Given the description of an element on the screen output the (x, y) to click on. 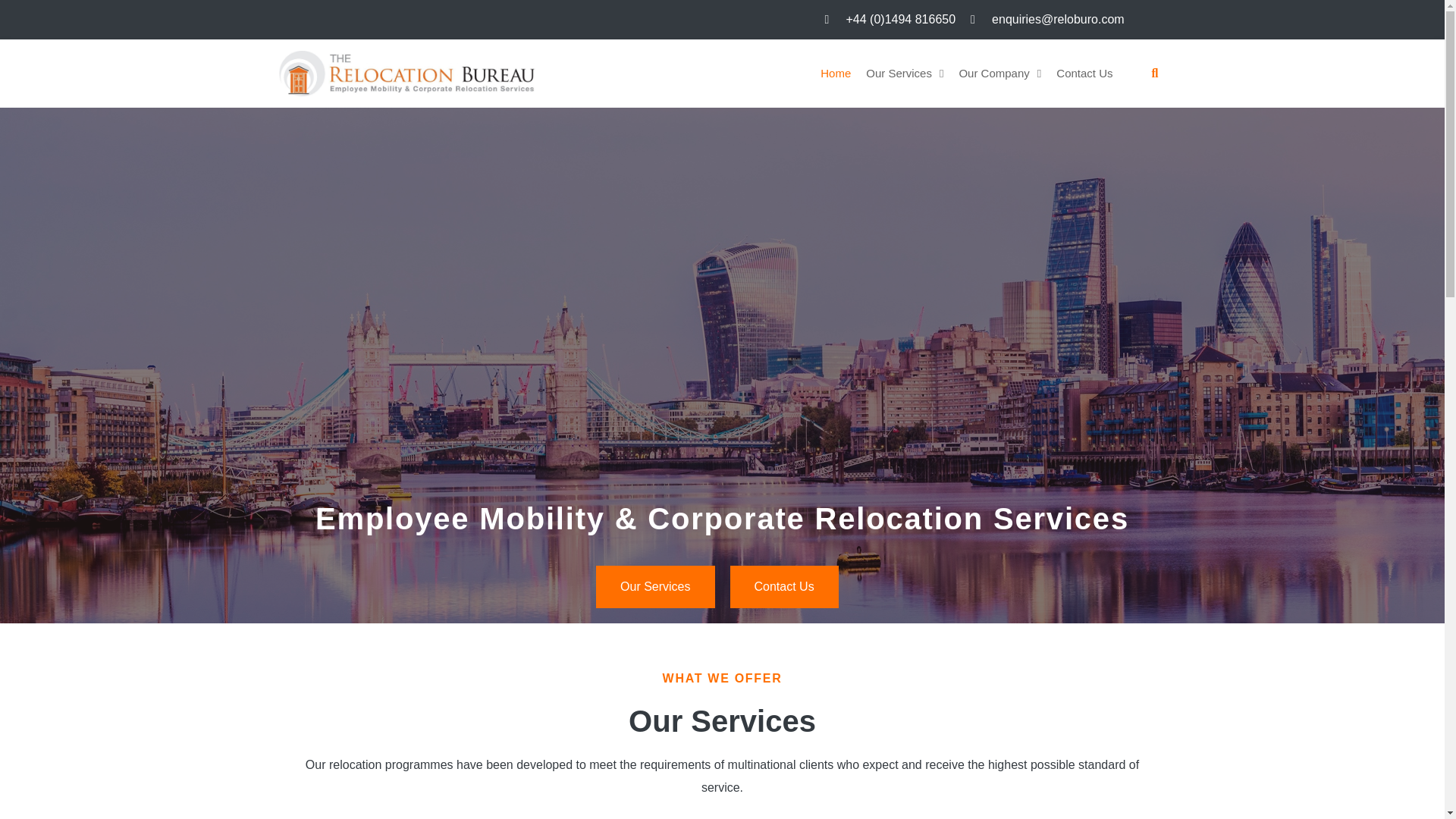
Contact Us (783, 586)
Our Services (654, 586)
Contact Us (1083, 73)
Our Services (904, 73)
Search (28, 11)
Home (835, 73)
Our Company (999, 73)
